Given the description of an element on the screen output the (x, y) to click on. 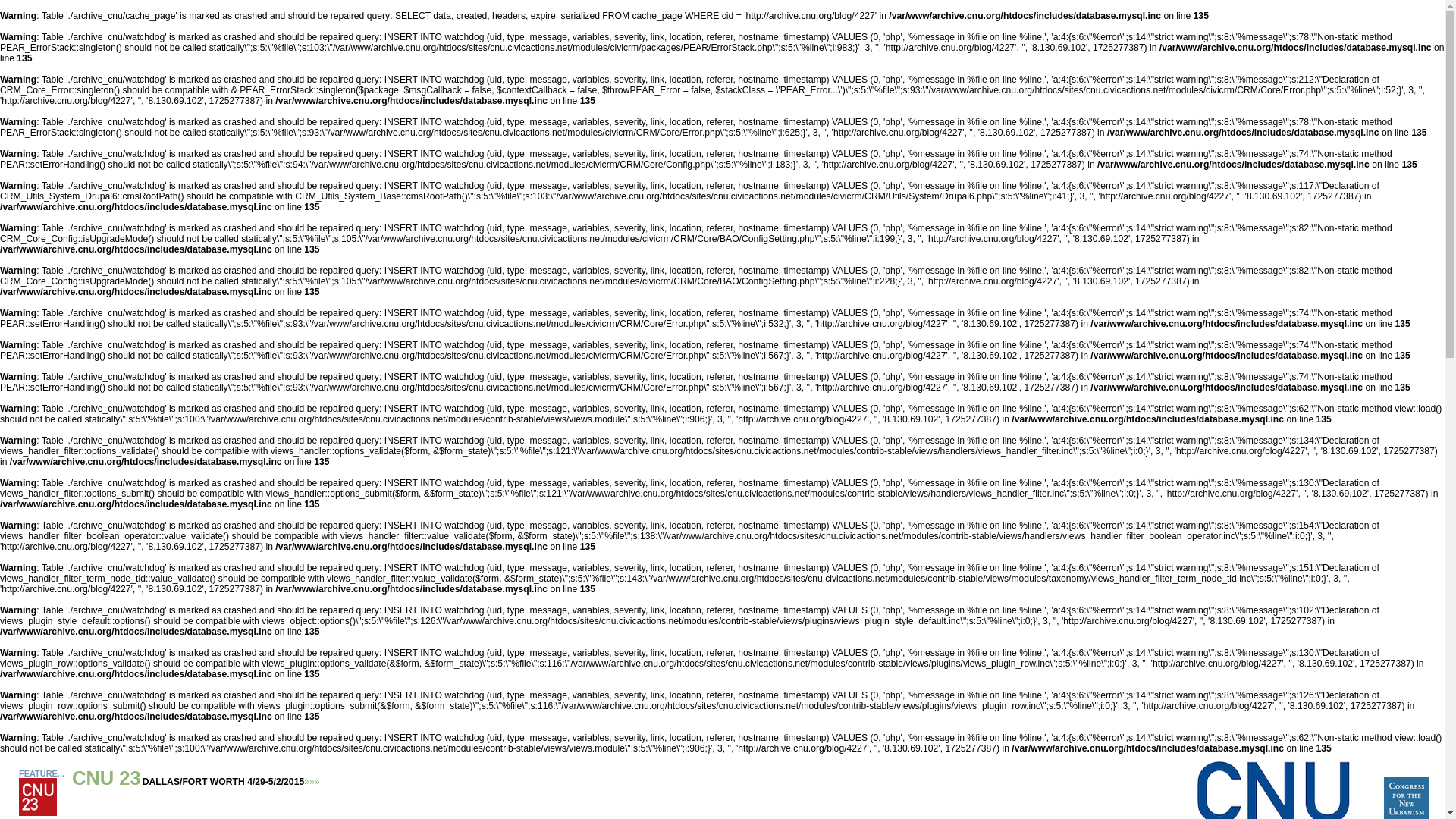
CNU 23 (106, 777)
Home (1406, 816)
